Given the description of an element on the screen output the (x, y) to click on. 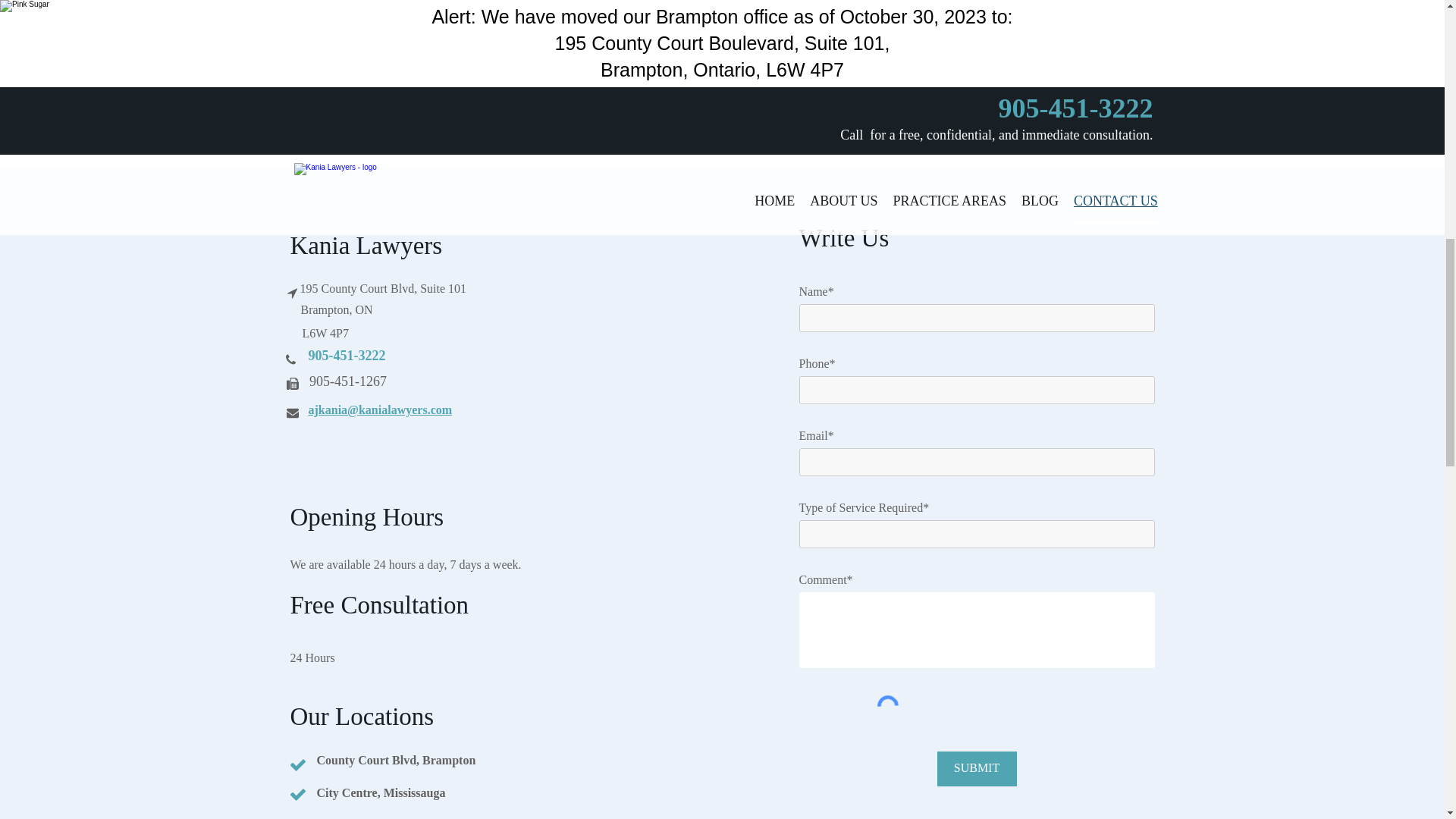
195 County Court Blvd, Suite 101 (383, 287)
SUBMIT (976, 768)
905-451-3222  (347, 354)
